Given the description of an element on the screen output the (x, y) to click on. 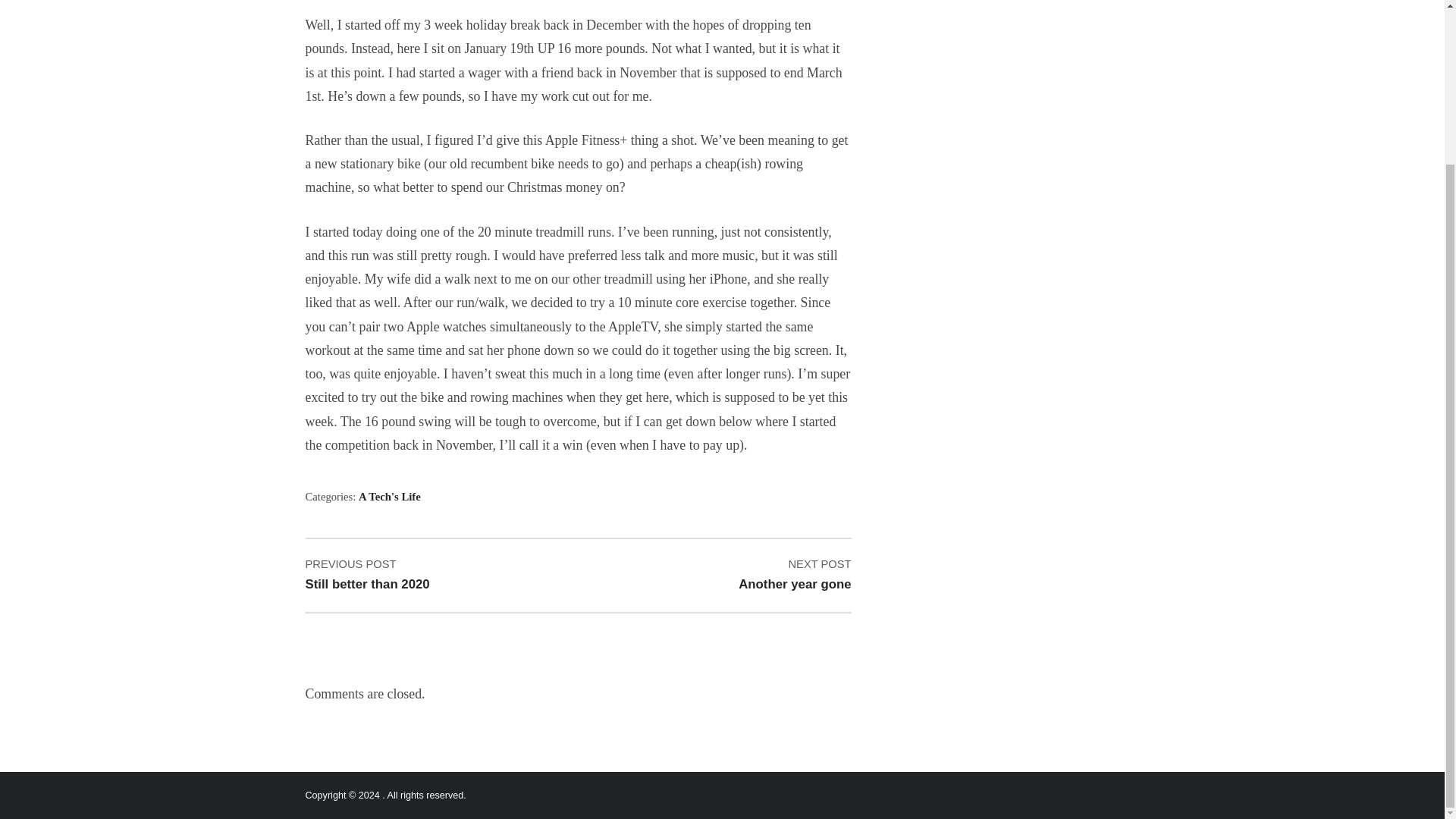
A Tech'S Life (430, 574)
